Given the description of an element on the screen output the (x, y) to click on. 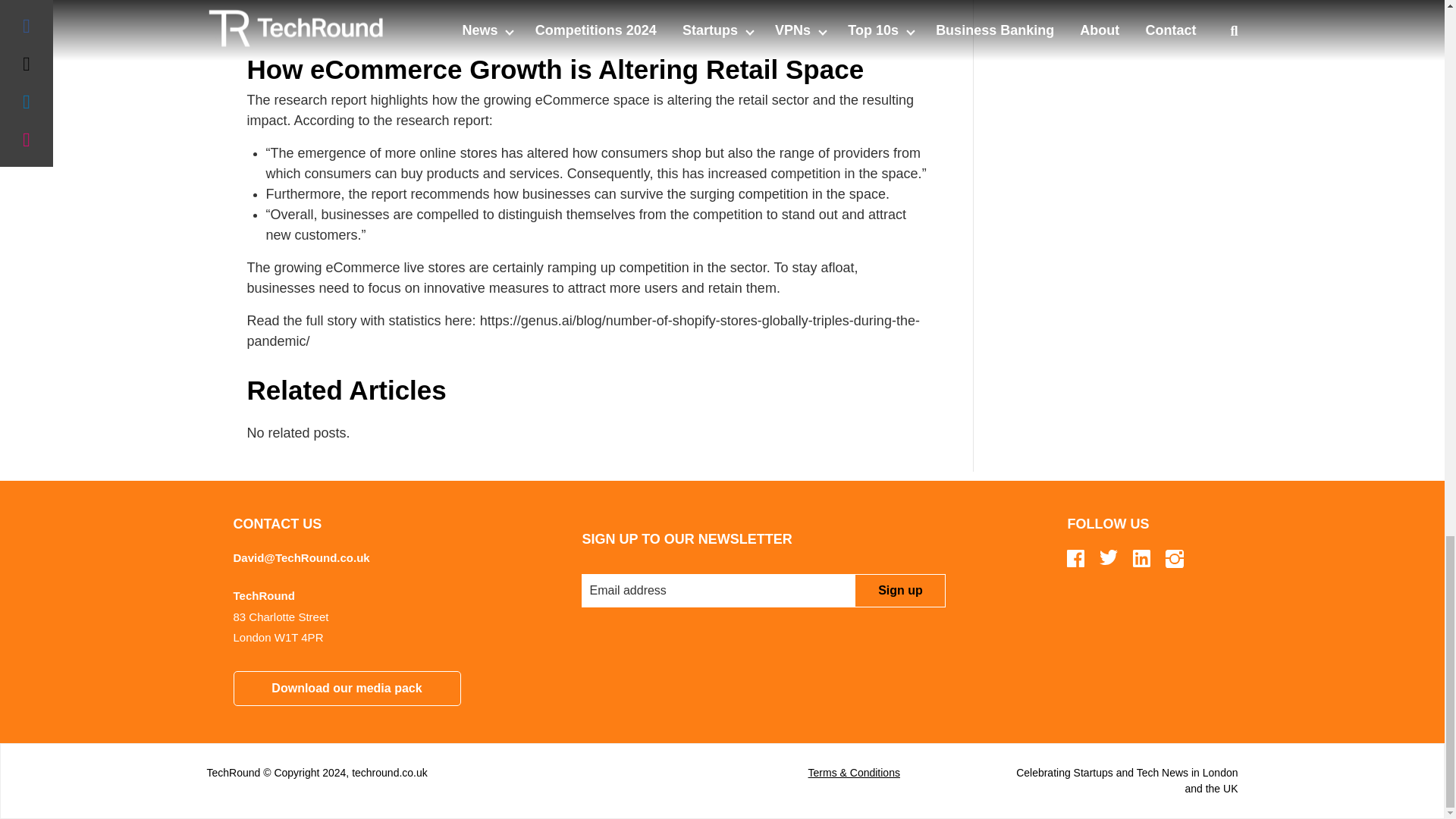
Sign up (899, 590)
Enter The BAME Top 50 Entrepreneurs - Deadline 10th Nov 2021 (1107, 44)
